Given the description of an element on the screen output the (x, y) to click on. 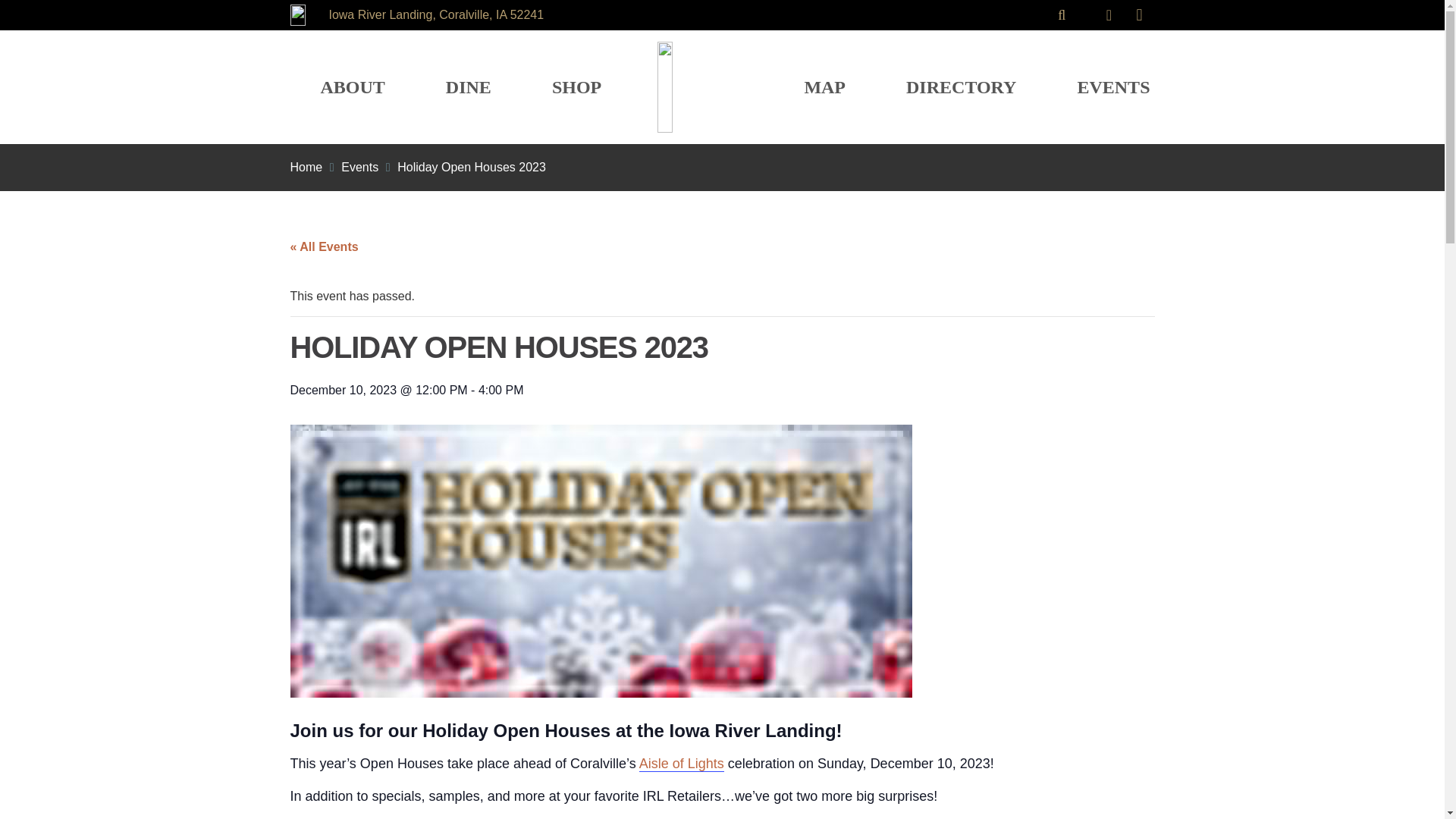
SHOP (576, 86)
Iowa River Landing, Coralville, IA 52241 (436, 14)
Instagram (1139, 15)
ABOUT (351, 86)
EVENTS (1112, 86)
DINE (467, 86)
Facebook (1108, 15)
MAP (824, 86)
DIRECTORY (961, 86)
